Given the description of an element on the screen output the (x, y) to click on. 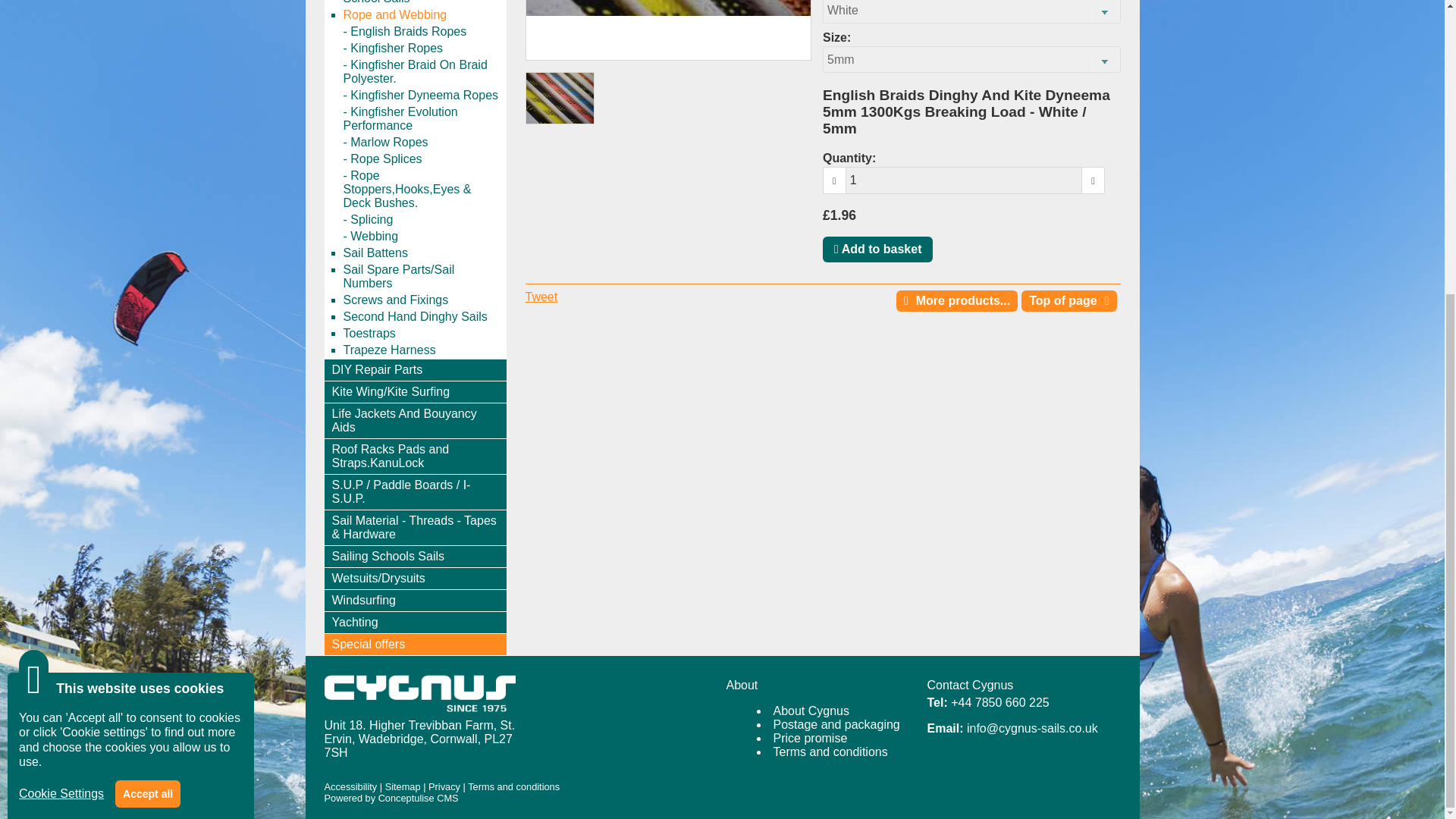
1 (964, 165)
English Braids Ropes (423, 31)
New Sails. Training And School Sails (423, 3)
Rope and Webbing (423, 14)
